Given the description of an element on the screen output the (x, y) to click on. 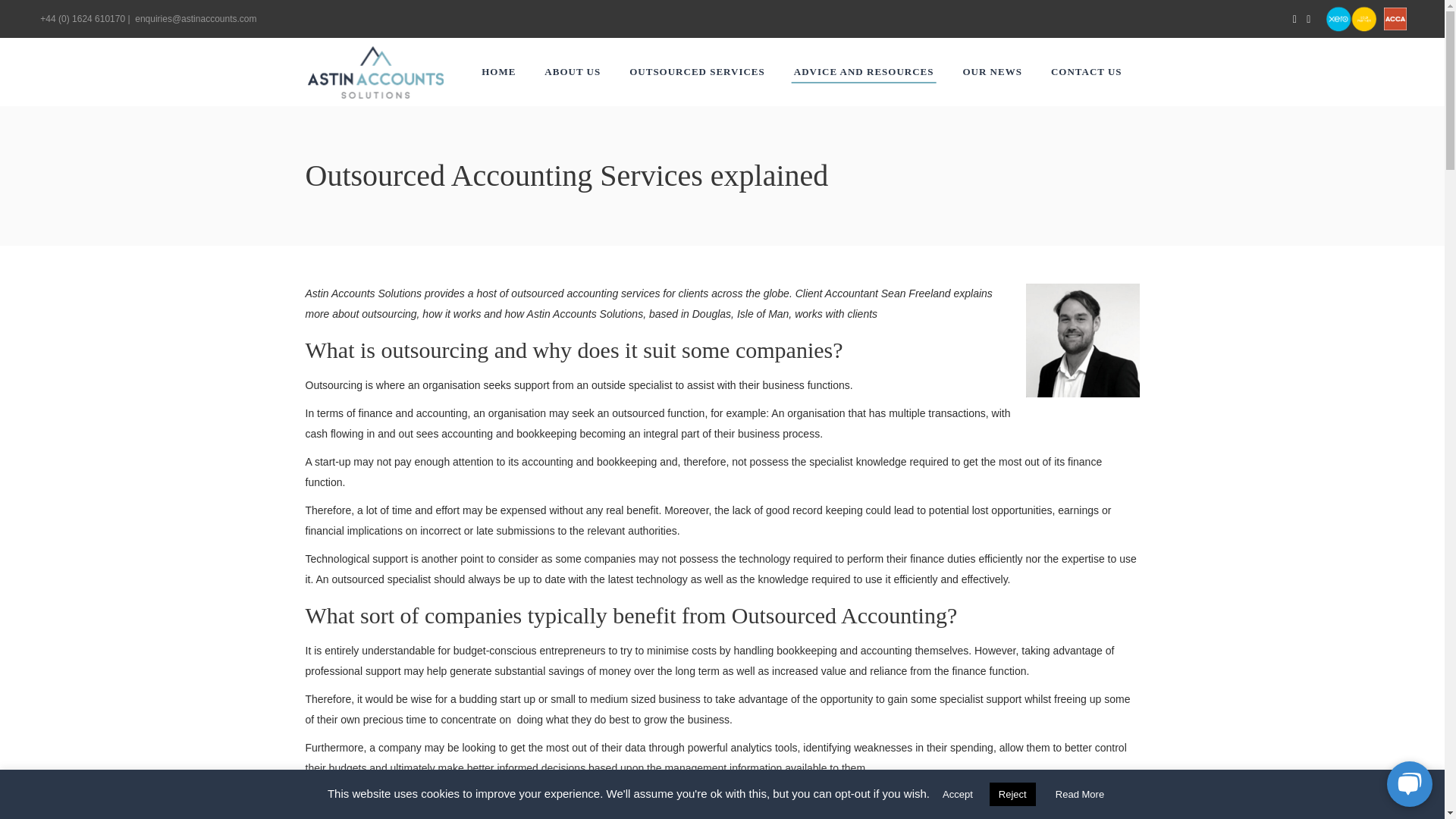
CONTACT US (1086, 71)
ADVICE AND RESOURCES (863, 71)
OUR NEWS (991, 71)
ABOUT US (571, 71)
HOME (498, 71)
OUTSOURCED SERVICES (696, 71)
